Given the description of an element on the screen output the (x, y) to click on. 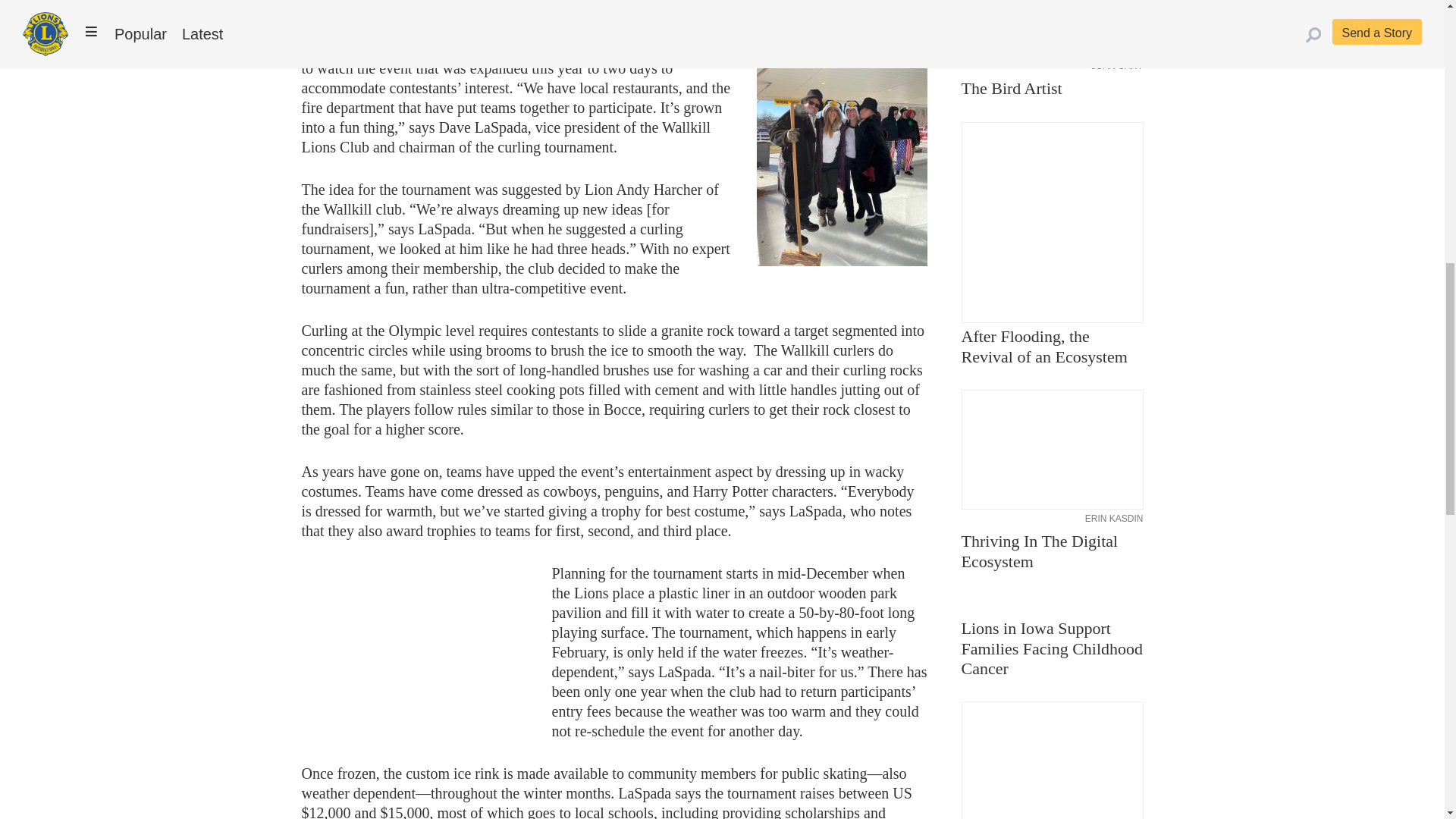
rocking out (415, 648)
